Given the description of an element on the screen output the (x, y) to click on. 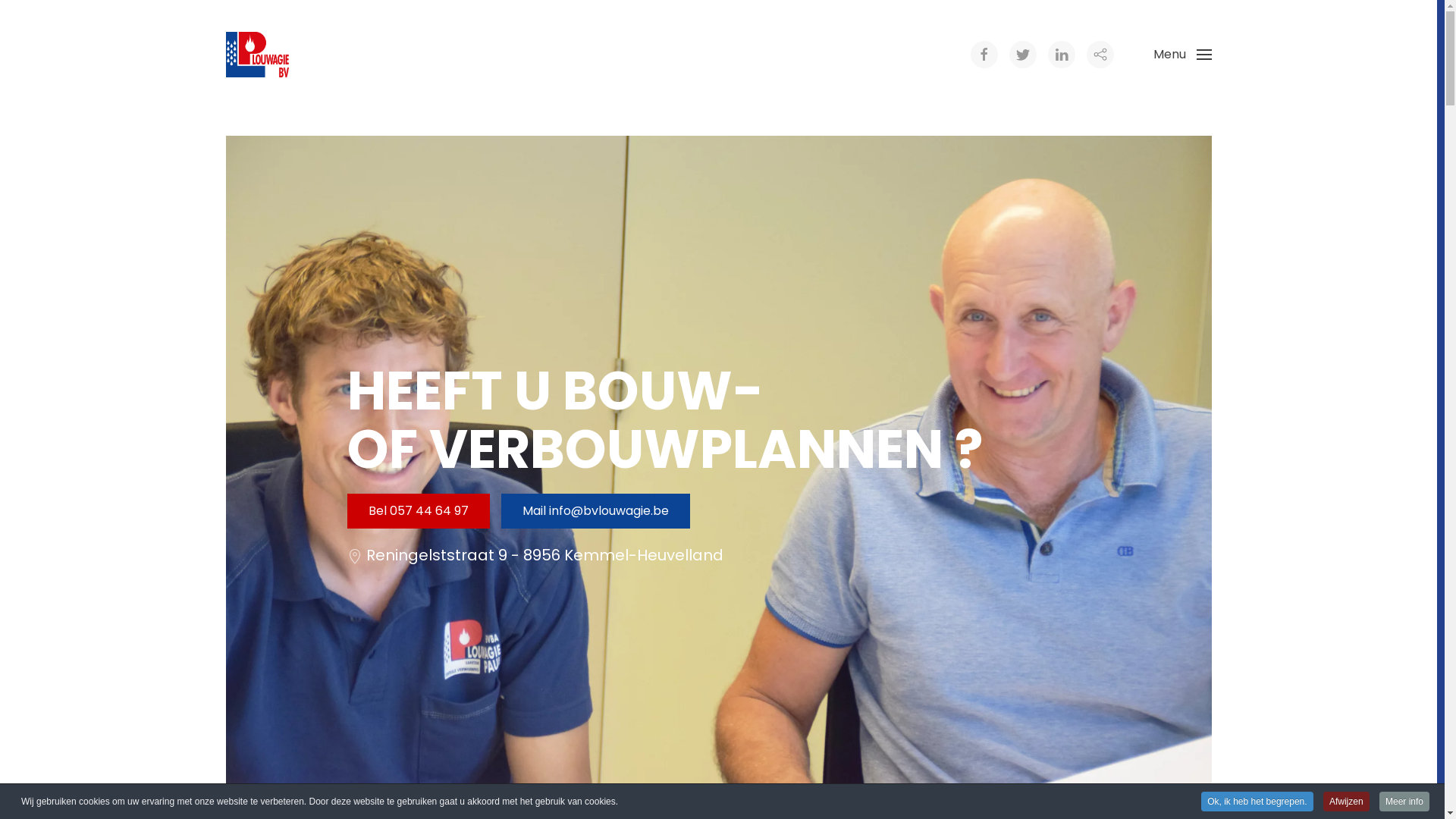
info@bvlouwagie.be Element type: text (608, 510)
Reningelststraat 9 - 8956 Kemmel-Heuvelland Element type: text (543, 554)
Meer info Element type: text (1404, 801)
Mail info@bvlouwagie.be Element type: text (594, 510)
Bel 057 44 64 97 Element type: text (418, 510)
Ok, ik heb het begrepen. Element type: text (1256, 801)
Afwijzen Element type: text (1346, 801)
